Given the description of an element on the screen output the (x, y) to click on. 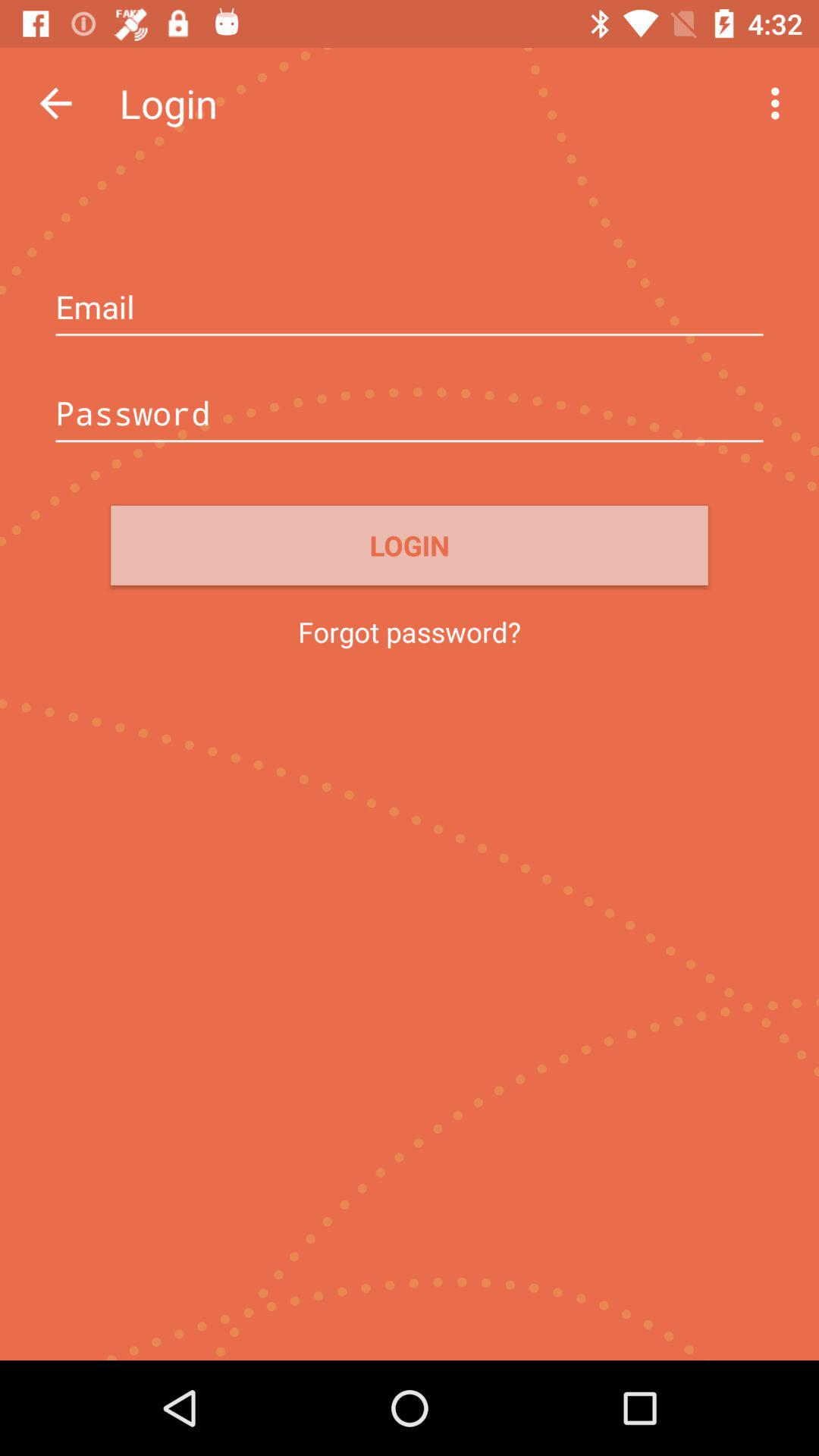
login email (409, 308)
